Given the description of an element on the screen output the (x, y) to click on. 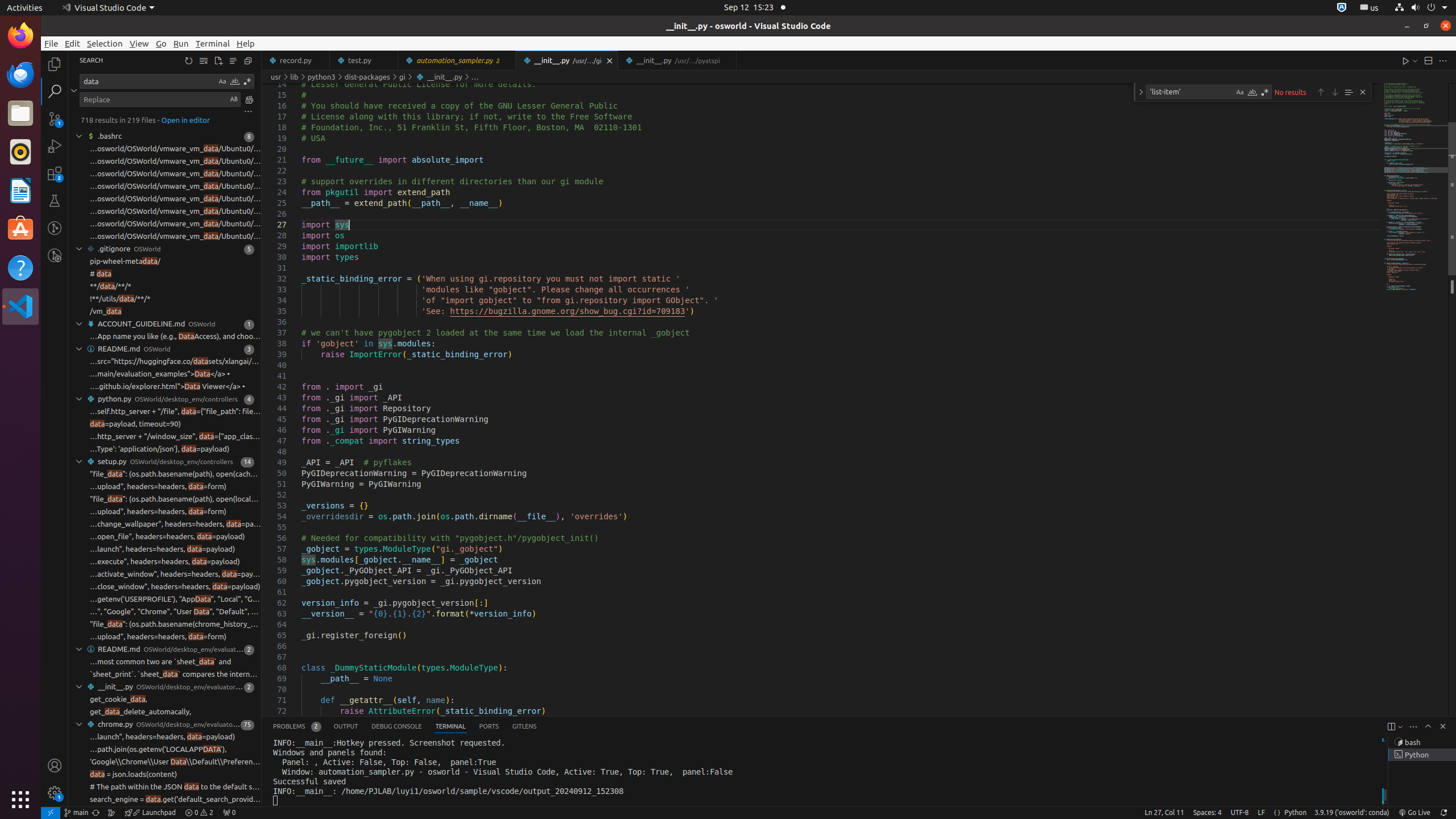
'Google\\Chrome\\User Data\\Default\\Preferences'))""")['output'].strip() Element type: link (175, 761)
…launch", headers=headers, data=payload) Element type: link (162, 548)
Run Python File Element type: push-button (1405, 60)
